Given the description of an element on the screen output the (x, y) to click on. 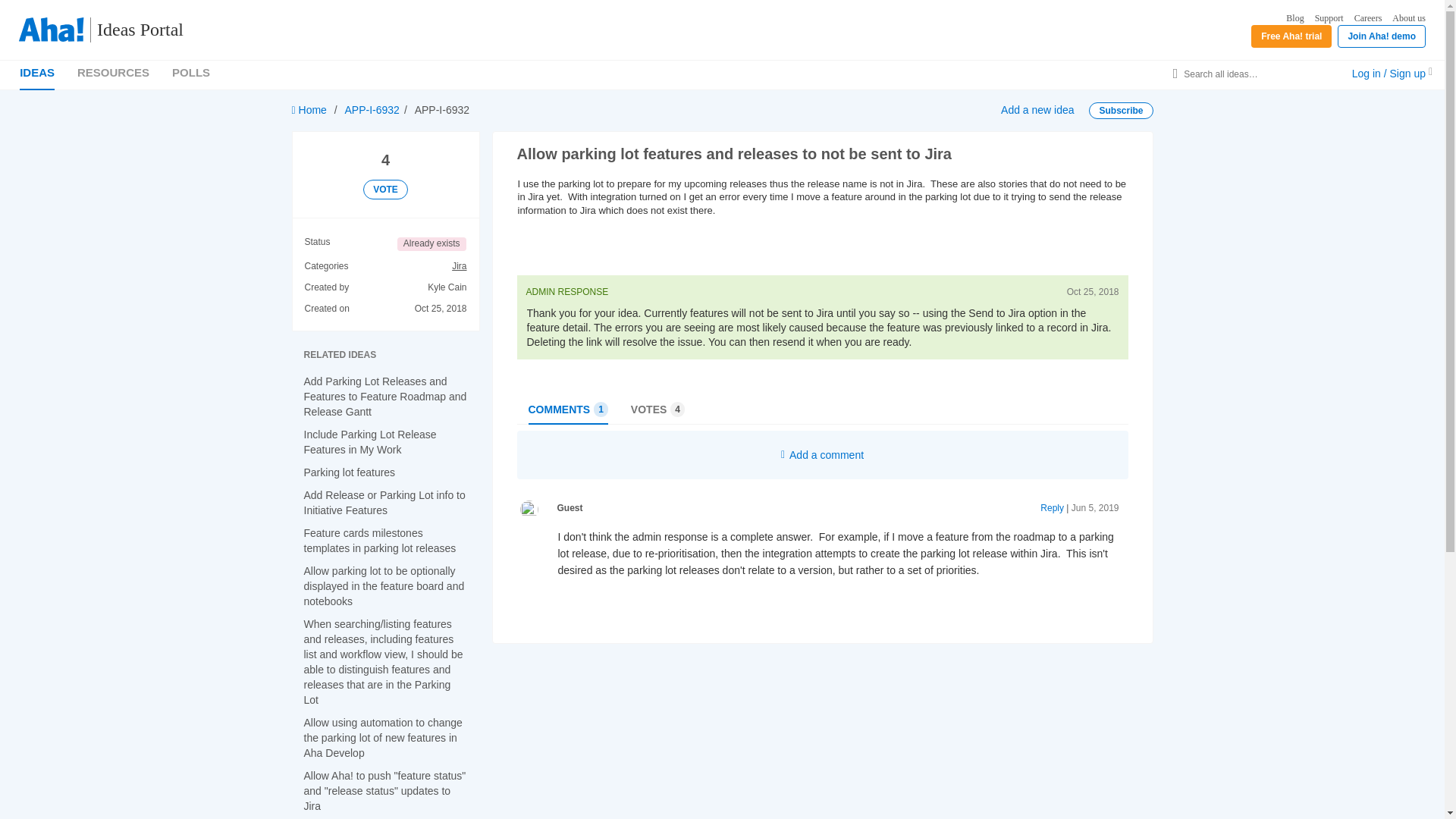
Blog (1294, 18)
Join Aha! demo (1381, 36)
VOTE (385, 189)
Free Aha! trial (1291, 36)
Careers (1367, 18)
Home (310, 110)
Jira (458, 266)
Feature cards milestones templates in parking lot releases (378, 540)
About us (1408, 18)
Ideas Portal (133, 30)
Already exists (431, 243)
Include Parking Lot Release Features in My Work (368, 441)
